Given the description of an element on the screen output the (x, y) to click on. 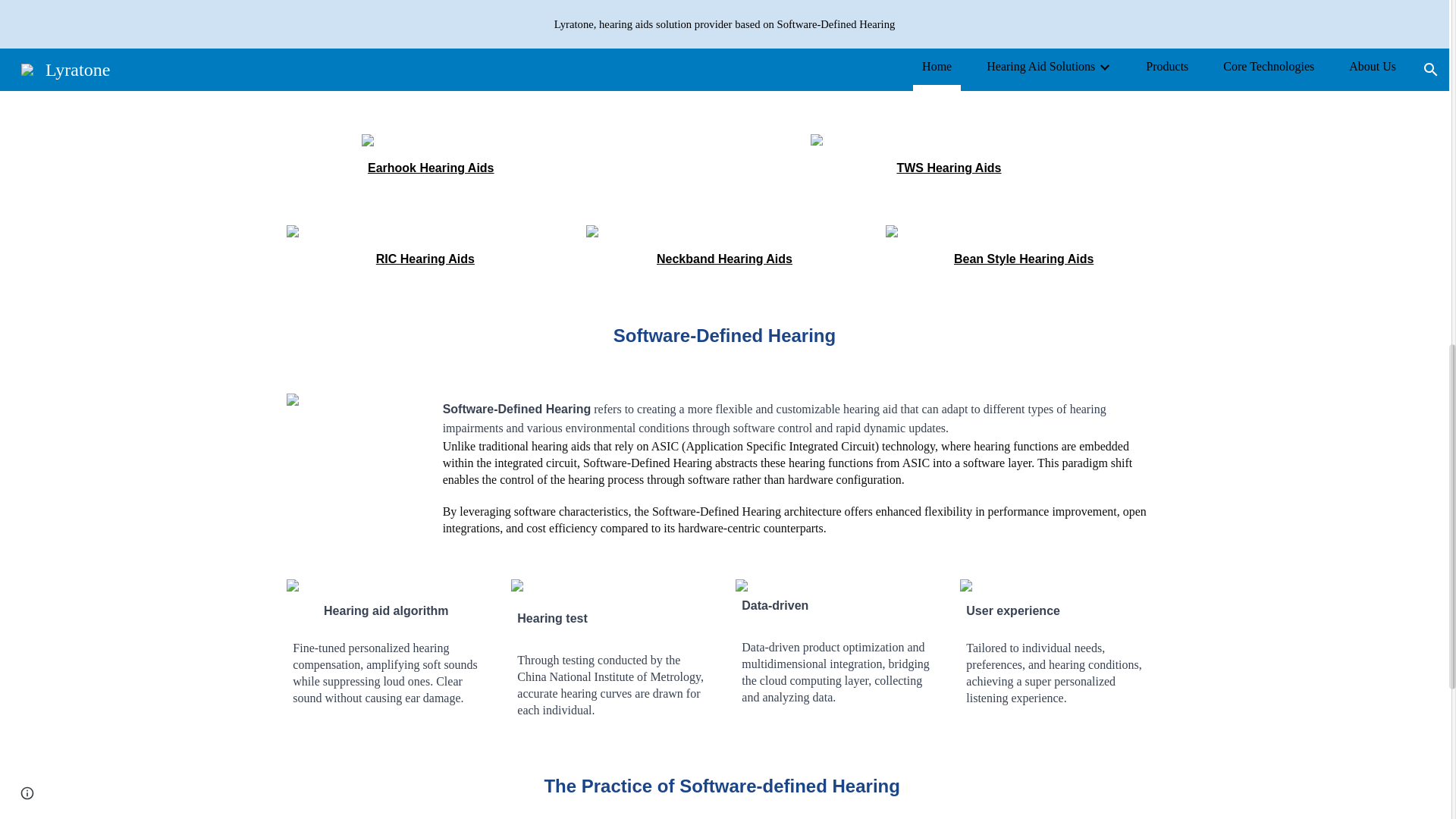
Bean Style Hearing Aids (1023, 258)
TWS Hearing Aids (948, 167)
Earhook Hearing Aids (431, 167)
Neckband Hearing Aids (724, 258)
RIC Hearing Aids (424, 258)
